Given the description of an element on the screen output the (x, y) to click on. 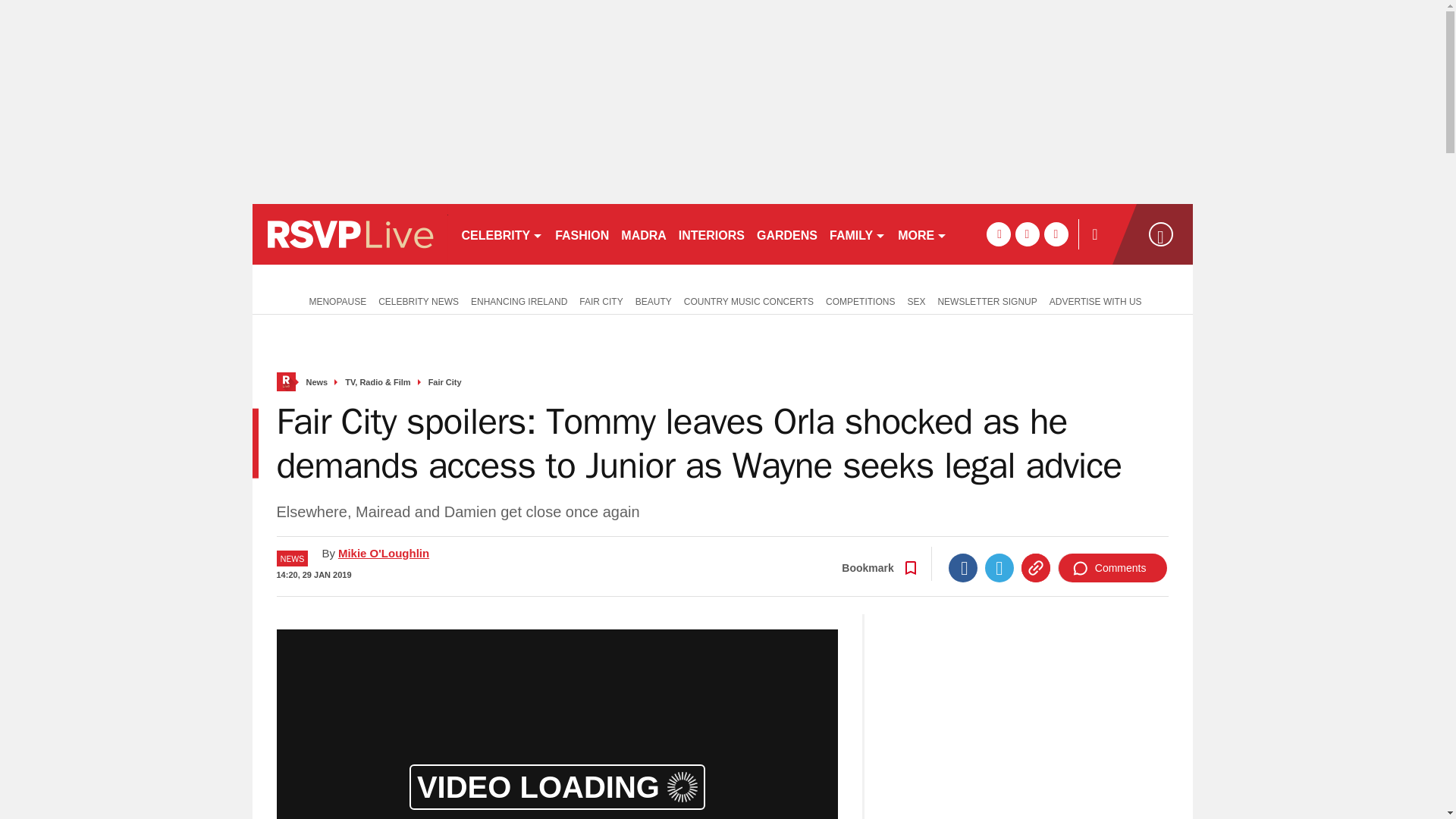
instagram (1055, 233)
Facebook (962, 567)
Comments (1112, 567)
CELEBRITY (501, 233)
FAMILY (857, 233)
MADRA (643, 233)
facebook (997, 233)
Twitter (999, 567)
MORE (922, 233)
FASHION (581, 233)
twitter (1026, 233)
GARDENS (787, 233)
INTERIORS (711, 233)
rsvp (348, 233)
